Given the description of an element on the screen output the (x, y) to click on. 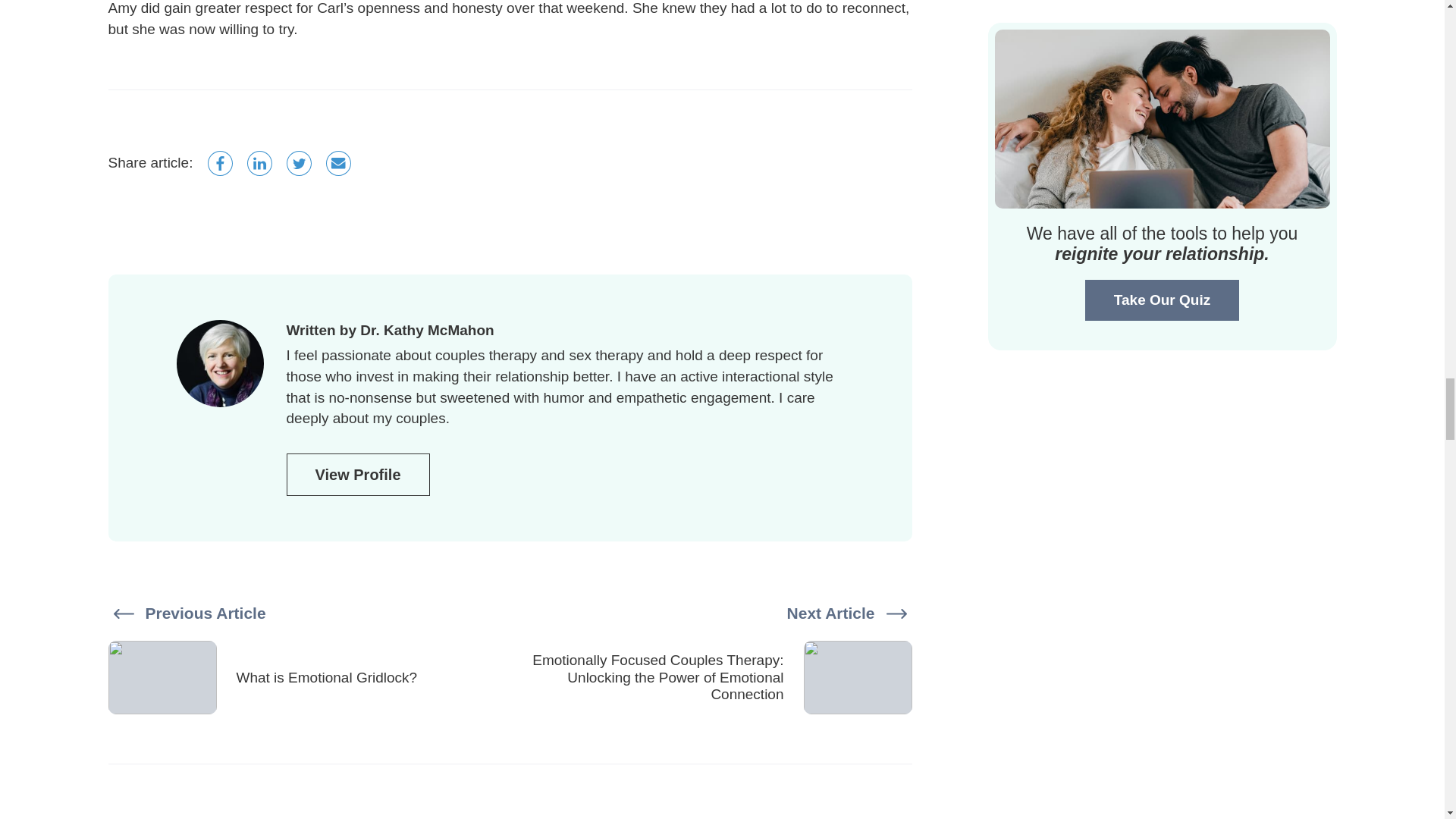
Twitter (298, 163)
Email (338, 163)
Dr. Kathy McMahon (426, 330)
LinkedIn (259, 163)
Facebook (220, 163)
